Given the description of an element on the screen output the (x, y) to click on. 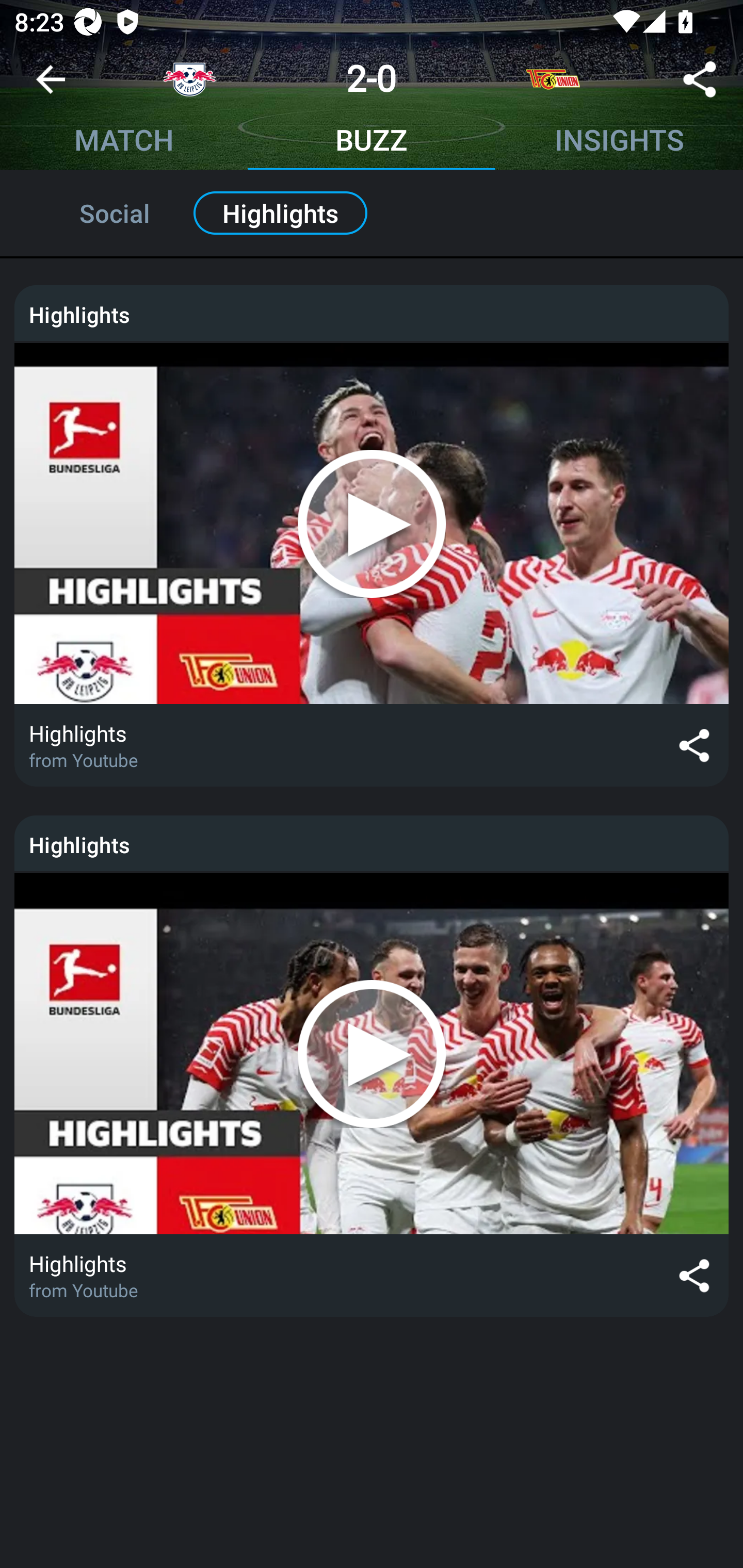
Navigate up (50, 86)
Share (699, 82)
MATCH (123, 142)
BUZZ (371, 142)
INSIGHTS (619, 142)
Social (93, 212)
